Given the description of an element on the screen output the (x, y) to click on. 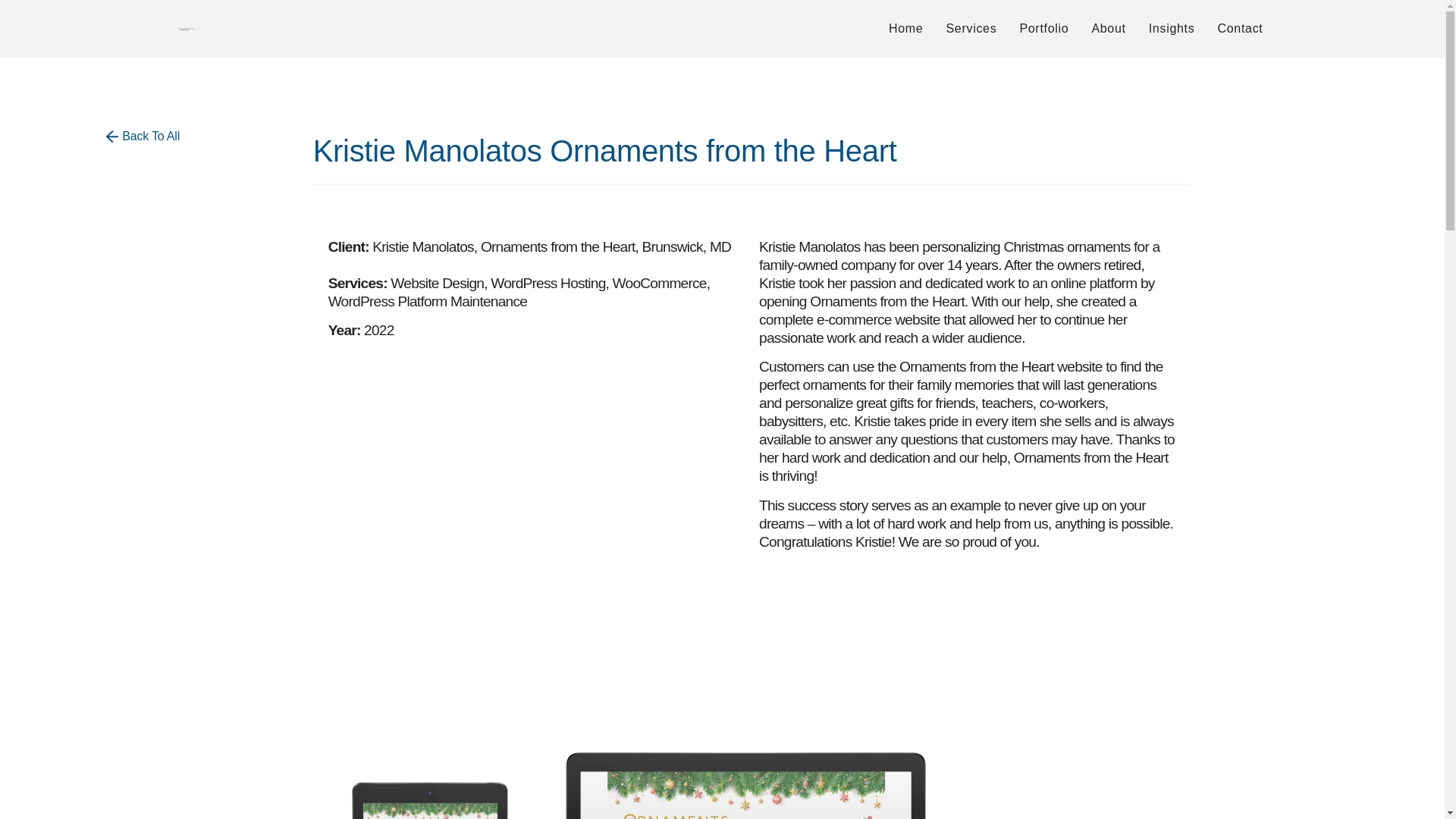
Back To All (142, 137)
Services (970, 28)
Insights (1172, 28)
Contact (1239, 28)
About (1108, 28)
Portfolio (1043, 28)
Home (905, 28)
